Given the description of an element on the screen output the (x, y) to click on. 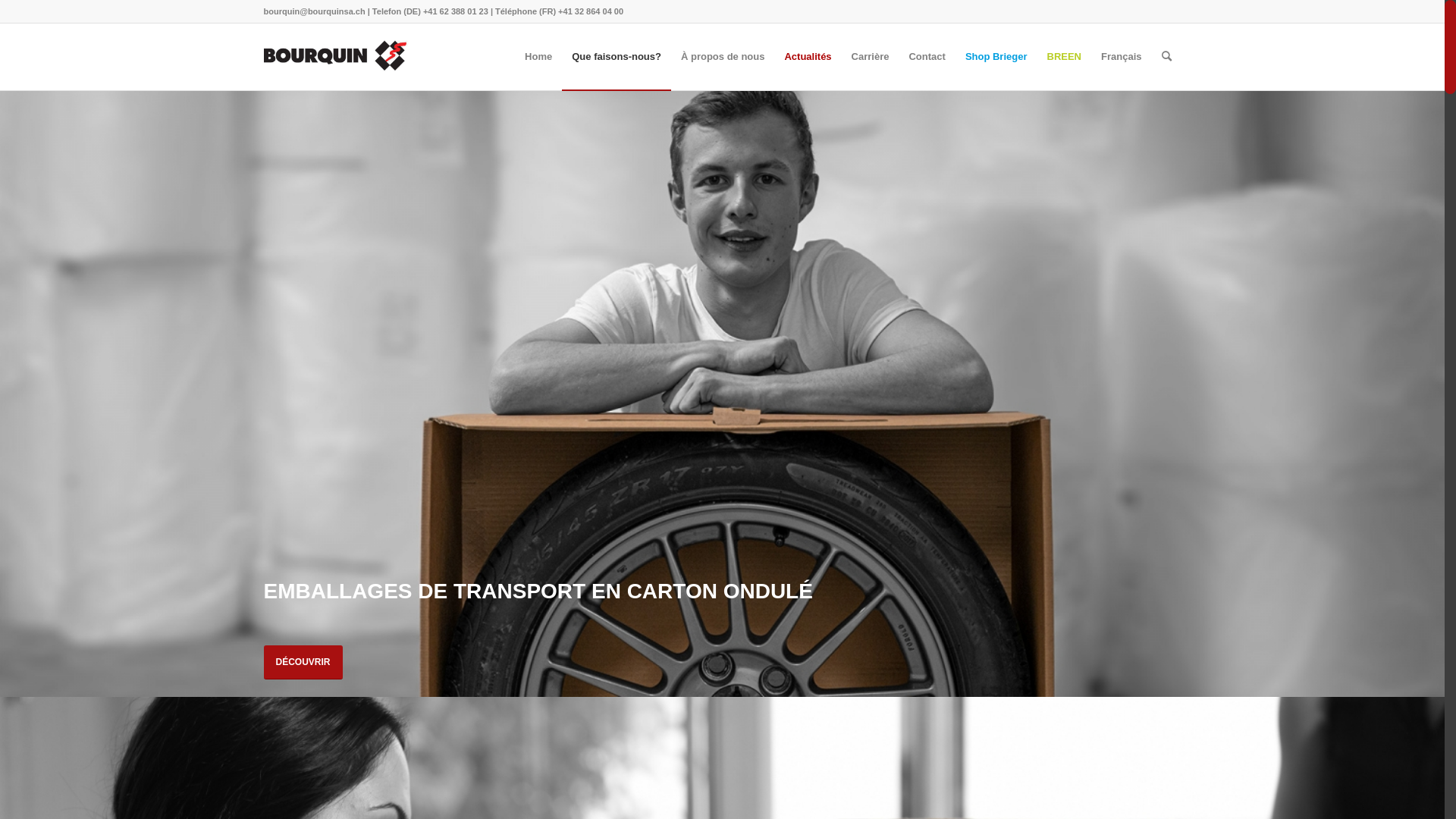
Contact Element type: text (926, 56)
Shop Brieger Element type: text (996, 56)
bourquin@bourquinsa.ch Element type: text (314, 10)
BREEN Element type: text (1064, 56)
Que faisons-nous? Element type: text (616, 56)
Home Element type: text (537, 56)
